Given the description of an element on the screen output the (x, y) to click on. 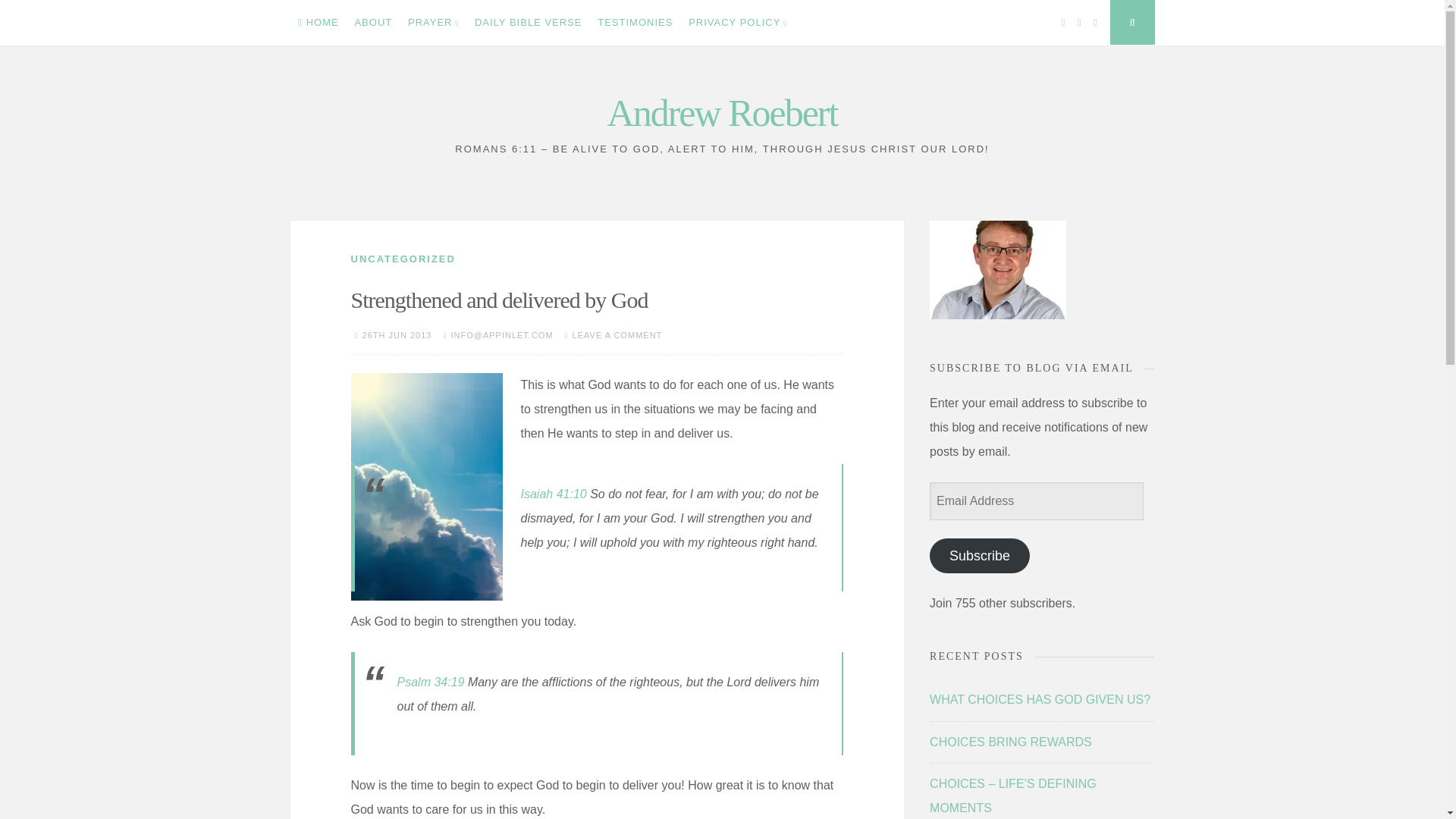
Isaiah 41:10 (552, 493)
CHOICES BRING REWARDS (1011, 741)
ABOUT (373, 22)
Isaiah 41:10 (552, 493)
HOME (317, 22)
Subscribe (979, 555)
DAILY BIBLE VERSE (528, 22)
UNCATEGORIZED (402, 258)
WHAT CHOICES HAS GOD GIVEN US? (1040, 698)
PRAYER (433, 22)
26TH JUN 2013 (397, 334)
LEAVE A COMMENT (617, 334)
Andrew Roebert (722, 112)
TESTIMONIES (635, 22)
